Given the description of an element on the screen output the (x, y) to click on. 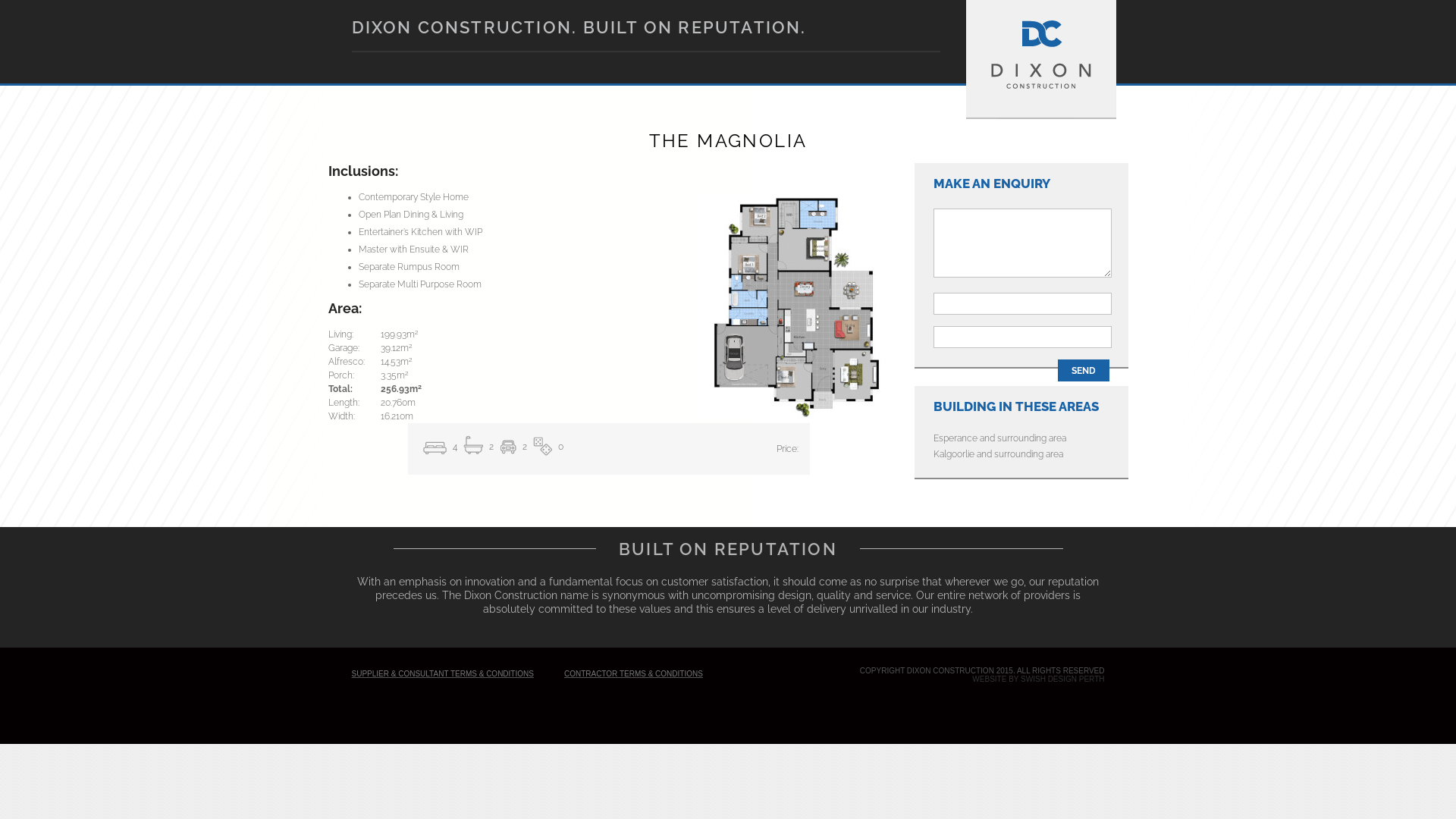
SWISH DESIGN Element type: text (1048, 678)
Send Element type: text (1082, 370)
SUPPLIER & CONSULTANT TERMS & CONDITIONS Element type: text (442, 673)
CONTRACTOR TERMS & CONDITIONS Element type: text (633, 673)
